Given the description of an element on the screen output the (x, y) to click on. 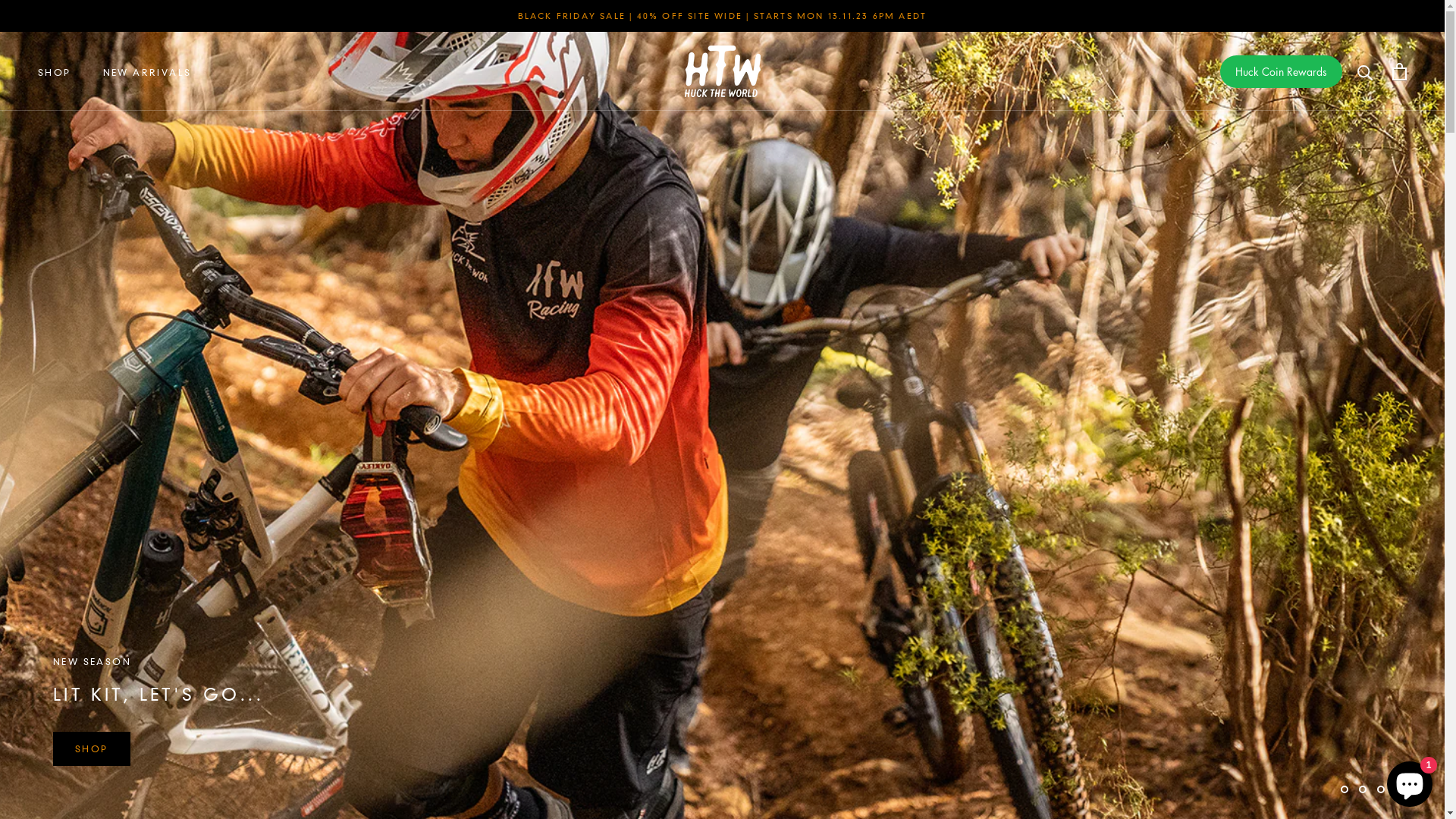
NEW ARRIVALS
NEW ARRIVALS Element type: text (147, 72)
Shopify online store chat Element type: hover (1409, 780)
Huck Coin Rewards Element type: text (1281, 71)
SHOP
SHOP Element type: text (54, 72)
SHOP Element type: text (91, 748)
